Given the description of an element on the screen output the (x, y) to click on. 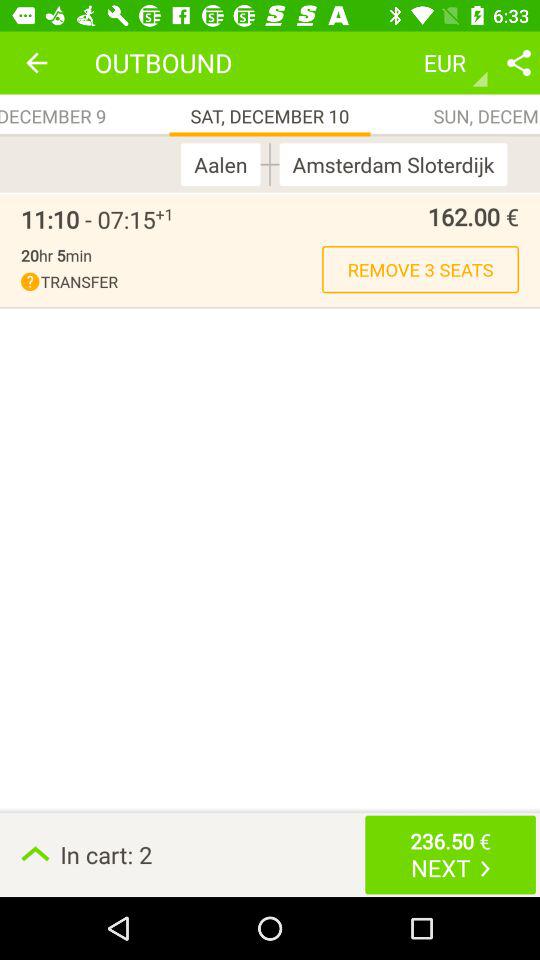
press app below the sat, december 10 app (225, 164)
